Given the description of an element on the screen output the (x, y) to click on. 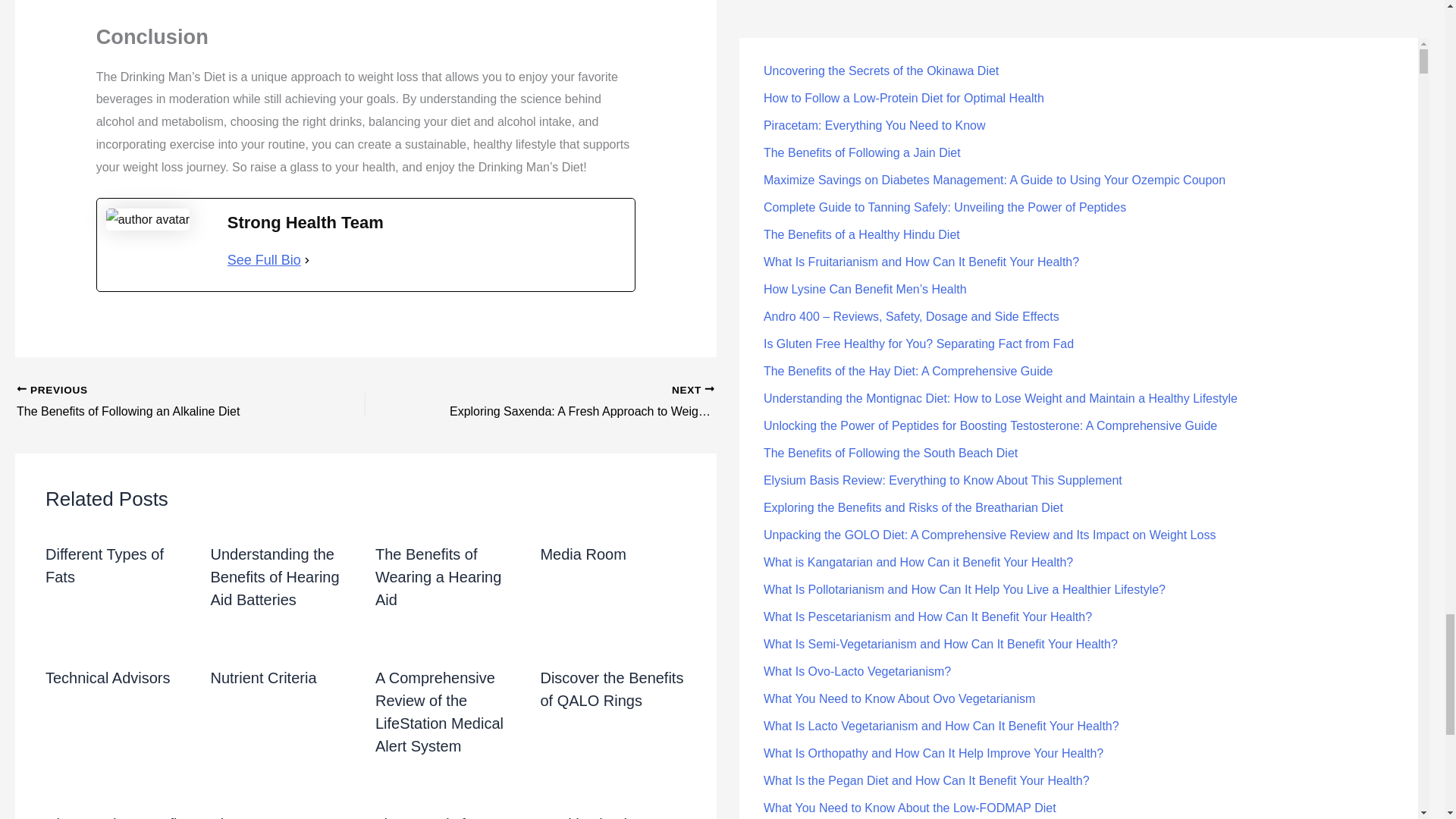
The Benefits of Following an Alkaline Diet (156, 402)
